Given the description of an element on the screen output the (x, y) to click on. 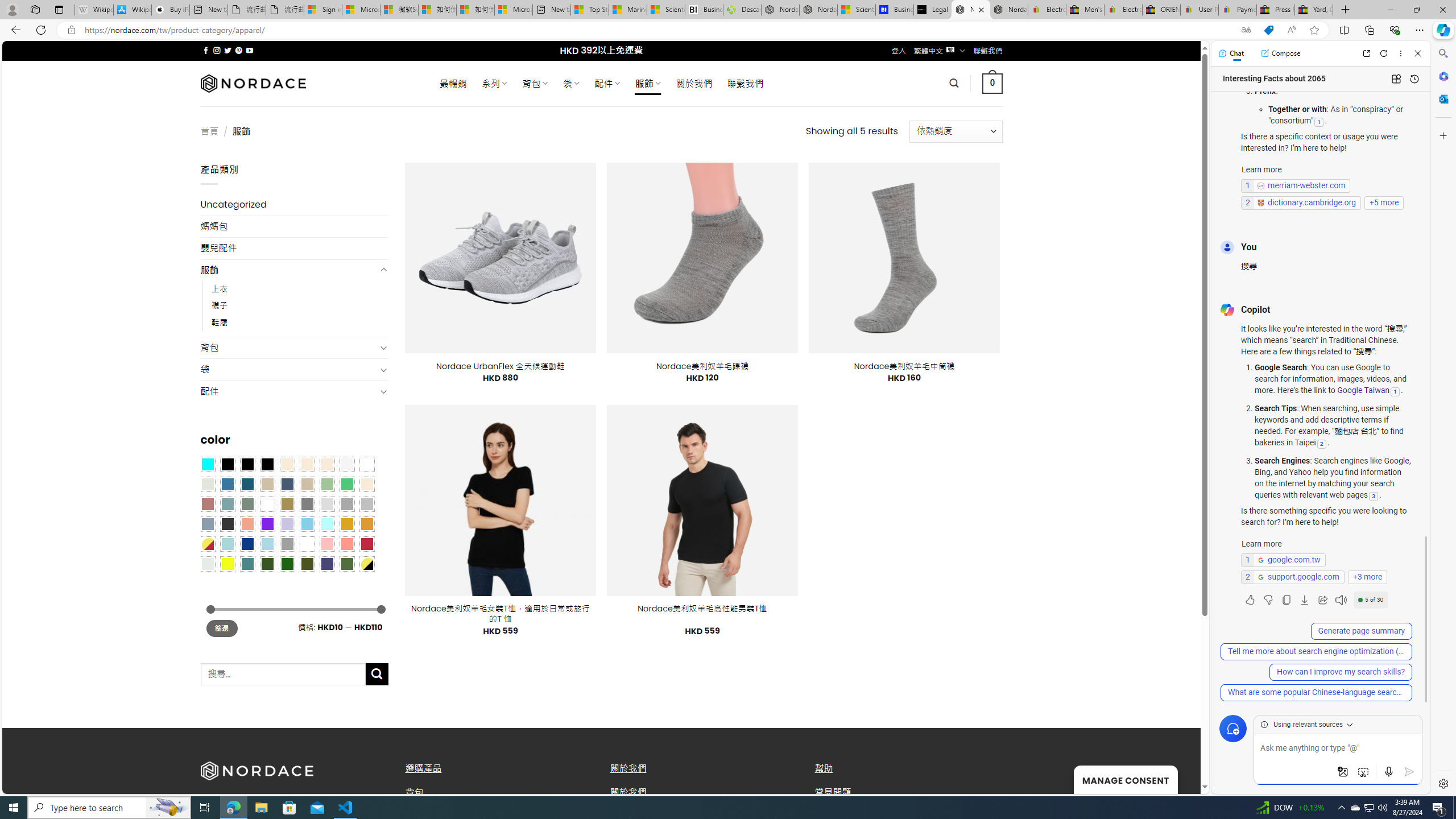
  0   (992, 83)
Compose (1280, 52)
